Given the description of an element on the screen output the (x, y) to click on. 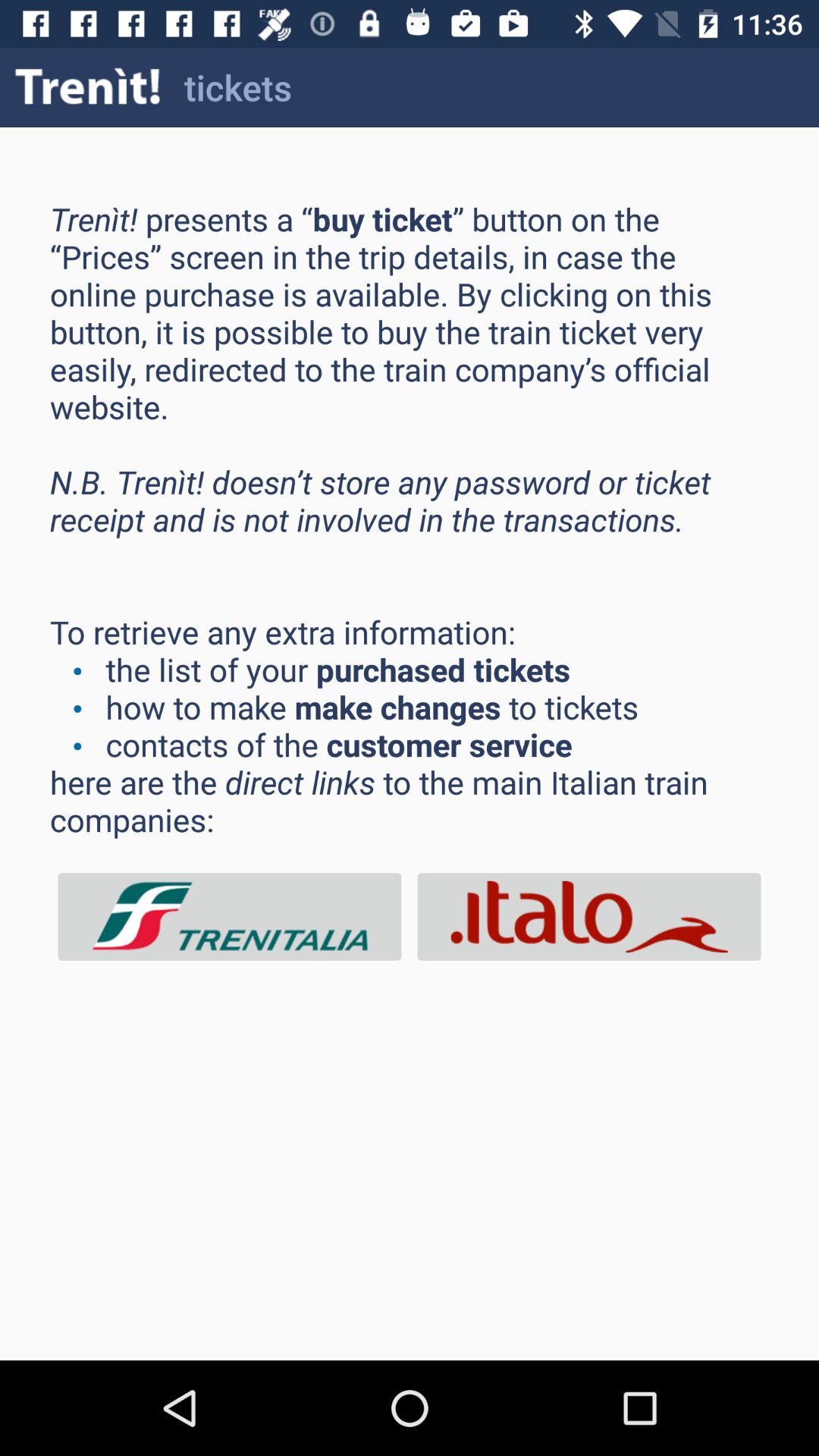
tap the icon at the center (409, 519)
